Given the description of an element on the screen output the (x, y) to click on. 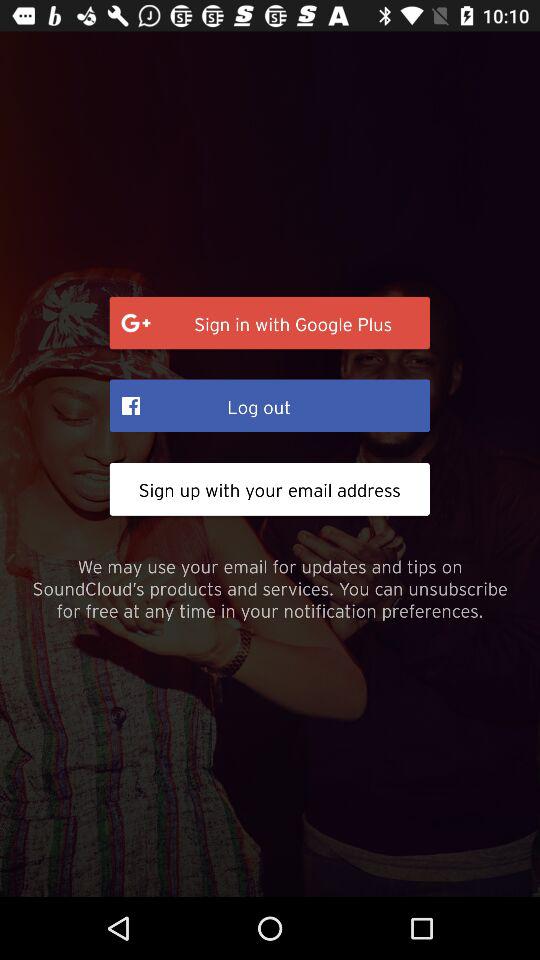
launch the log out item (269, 405)
